Given the description of an element on the screen output the (x, y) to click on. 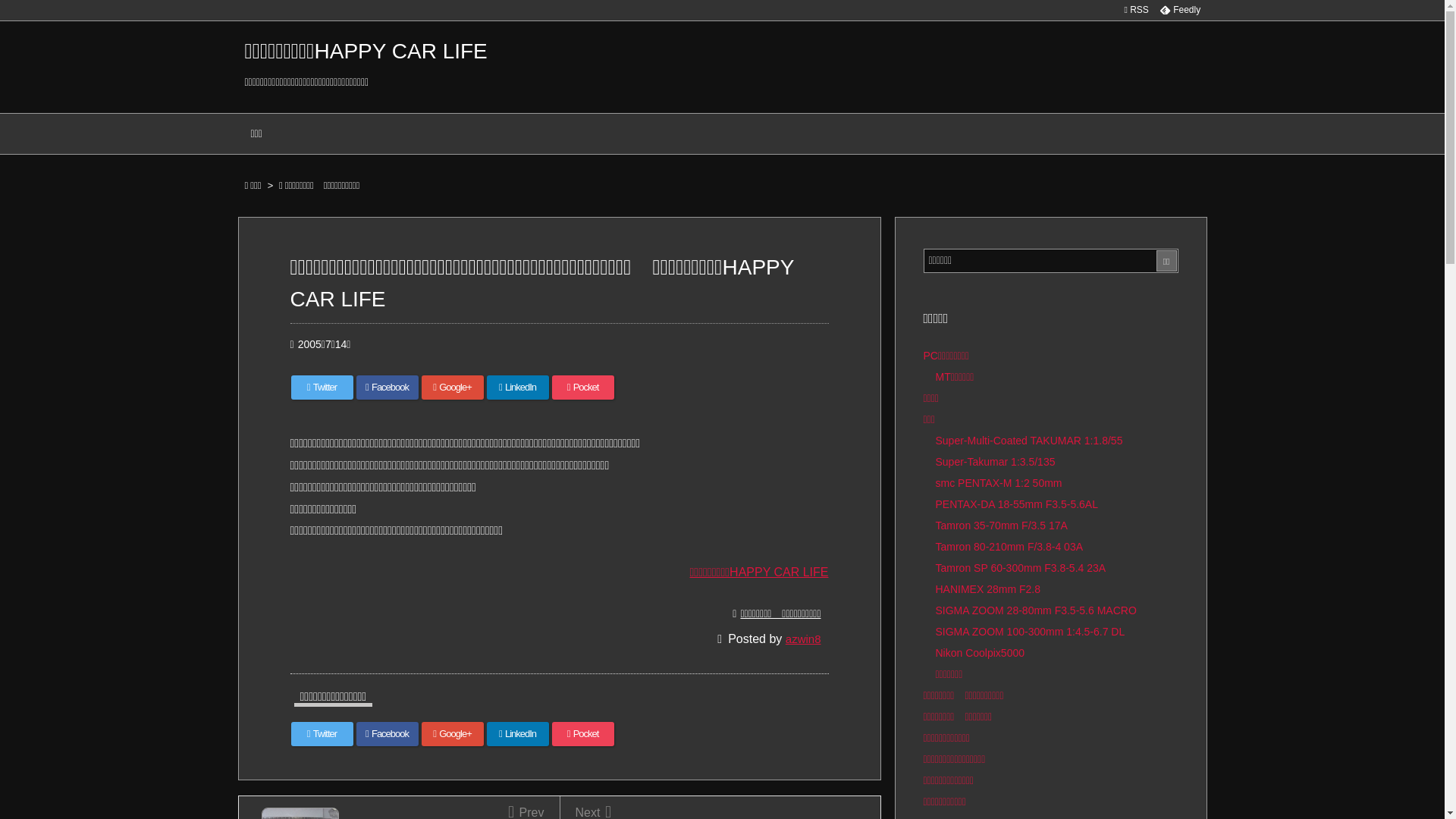
Super-Takumar 1:3.5/135 Element type: text (995, 461)
Super-Multi-Coated TAKUMAR 1:1.8/55 Element type: text (1029, 440)
PENTAX-DA 18-55mm F3.5-5.6AL Element type: text (1016, 504)
 Facebook Element type: text (387, 387)
 Pocket Element type: text (583, 733)
Tamron SP 60-300mm F3.8-5.4 23A Element type: text (1020, 567)
  RSS  Element type: text (1136, 9)
azwin8 Element type: text (803, 638)
 Google+ Element type: text (452, 387)
 Facebook Element type: text (387, 733)
smc PENTAX-M 1:2 50mm Element type: text (998, 482)
 Twitter Element type: text (322, 733)
SIGMA ZOOM 28-80mm F3.5-5.6 MACRO Element type: text (1035, 610)
 Google+ Element type: text (452, 733)
Nikon Coolpix5000 Element type: text (980, 652)
Tamron 80-210mm F/3.8-4 03A Element type: text (1009, 546)
 LinkedIn Element type: text (517, 733)
SIGMA ZOOM 100-300mm 1:4.5-6.7 DL Element type: text (1030, 631)
Tamron 35-70mm F/3.5 17A Element type: text (1001, 525)
 Pocket Element type: text (583, 387)
 Twitter Element type: text (322, 387)
  Feedly  Element type: text (1179, 9)
HANIMEX 28mm F2.8 Element type: text (987, 589)
 LinkedIn Element type: text (517, 387)
